Given the description of an element on the screen output the (x, y) to click on. 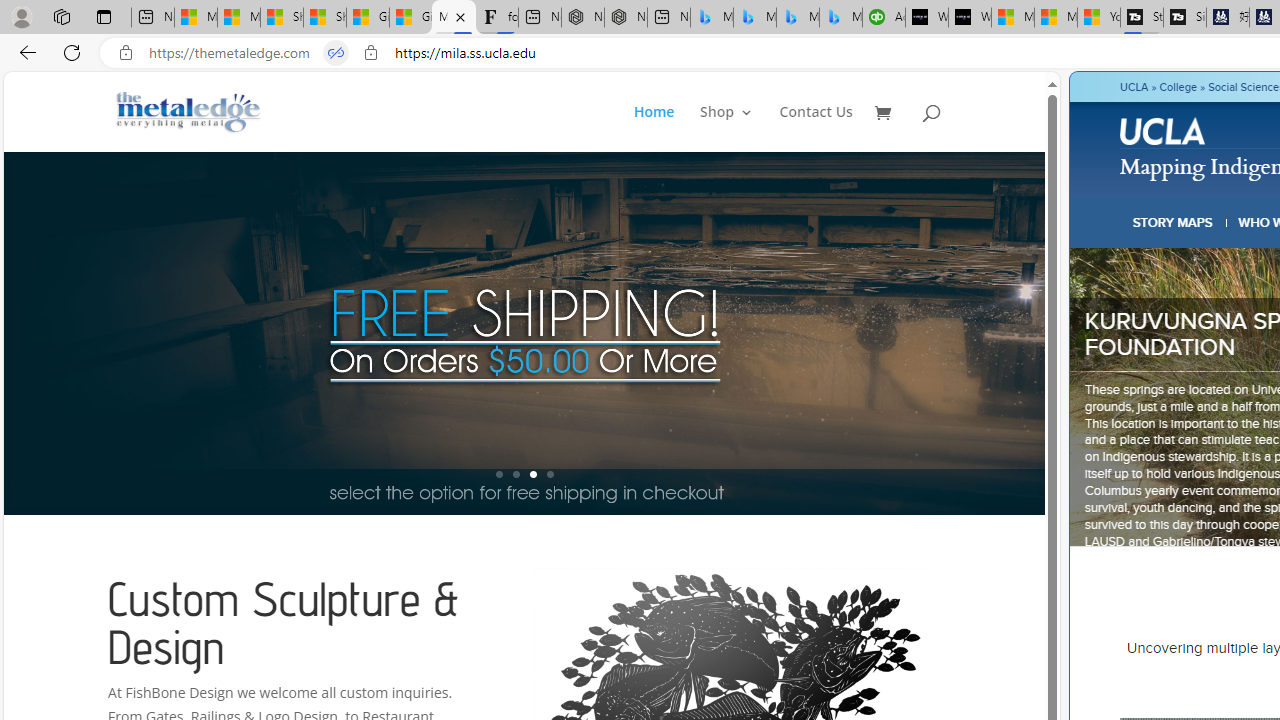
UCLA logo (1164, 134)
1 (499, 474)
STORY MAPS (1173, 222)
Tabs in split screen (335, 53)
Nordace - #1 Japanese Best-Seller - Siena Smart Backpack (625, 17)
UCLA logo (1162, 130)
Shop3 (737, 128)
2 (515, 474)
Home (665, 128)
